Given the description of an element on the screen output the (x, y) to click on. 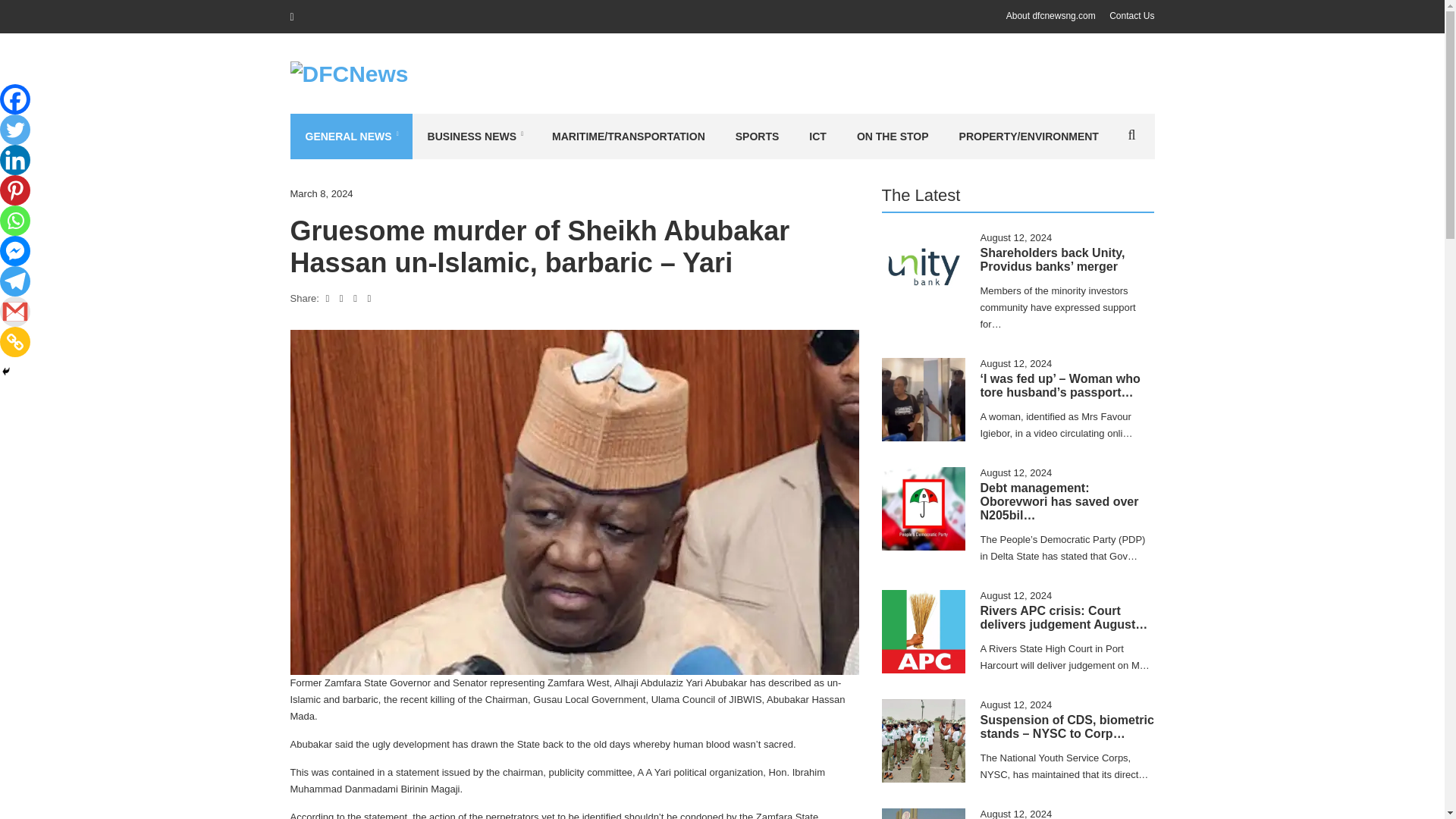
Contact Us (1131, 15)
GENERAL NEWS (350, 135)
Twitter (15, 129)
Hide (5, 371)
Telegram (15, 281)
Google Gmail (15, 311)
Pinterest (15, 190)
Copy Link (15, 341)
Facebook (15, 99)
Linkedin (15, 159)
